Given the description of an element on the screen output the (x, y) to click on. 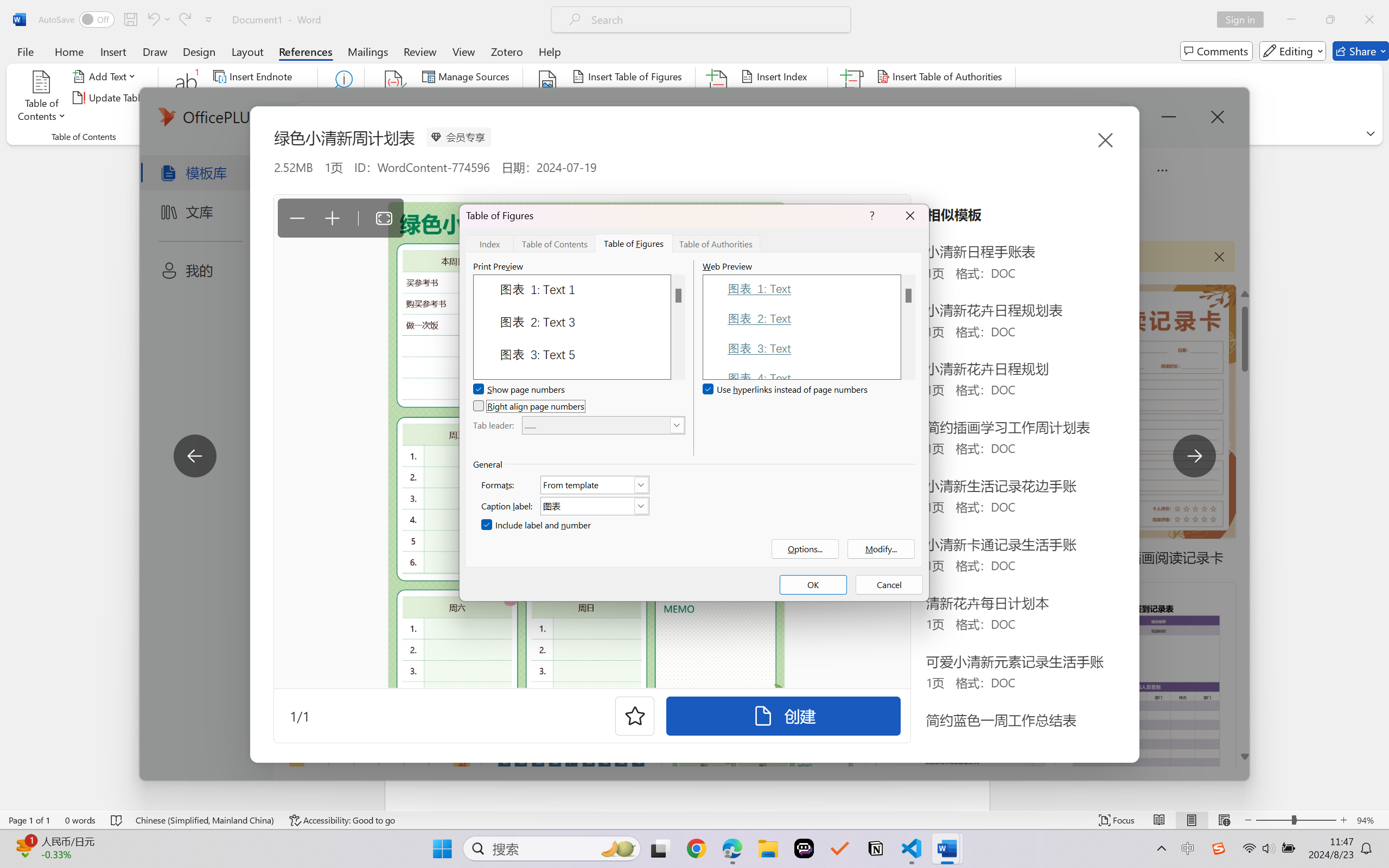
Table of Figures (633, 243)
Undo Apply Quick Style Set (152, 19)
Update Index (778, 97)
